Given the description of an element on the screen output the (x, y) to click on. 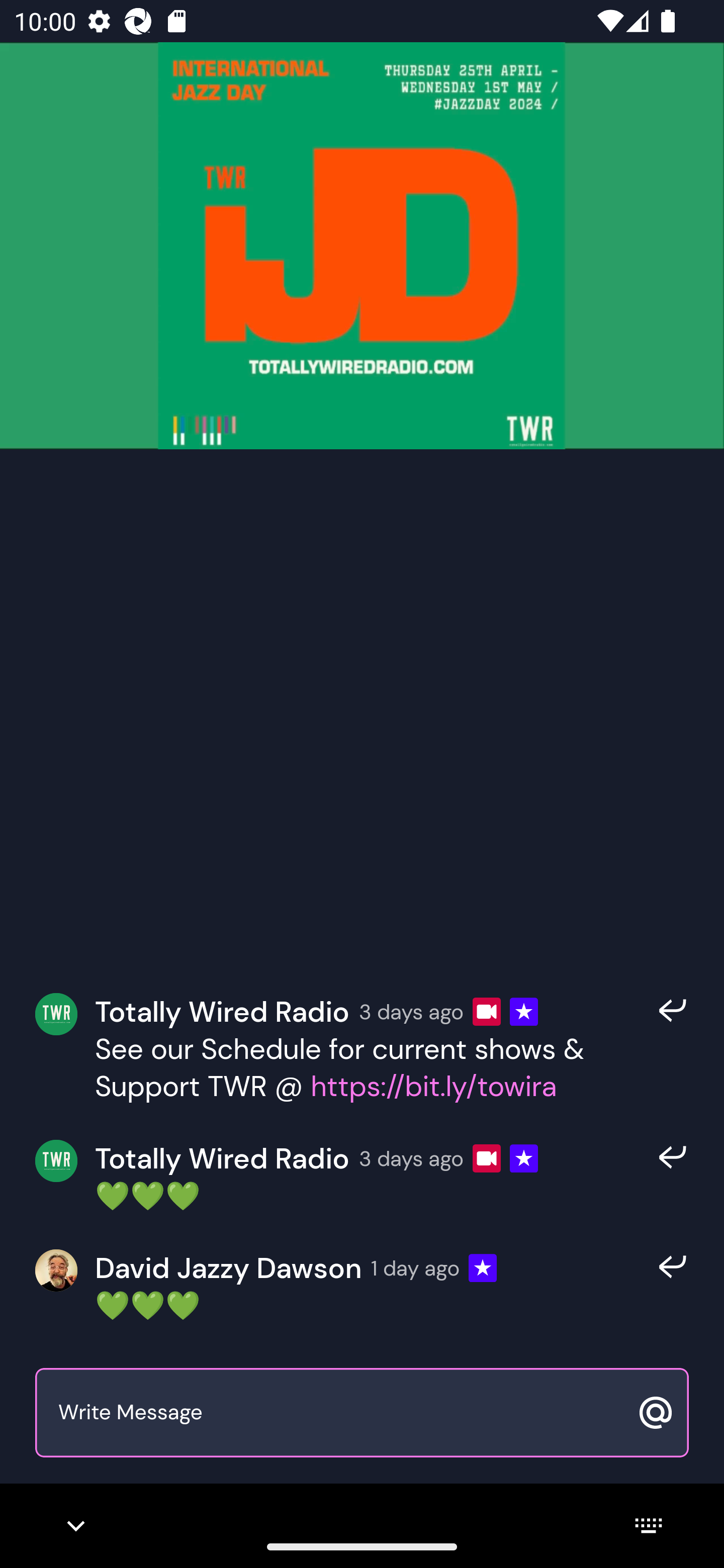
Totally Wired Radio (221, 1011)
Totally Wired Radio (221, 1158)
David Jazzy Dawson (228, 1268)
Write Message (340, 1413)
